Given the description of an element on the screen output the (x, y) to click on. 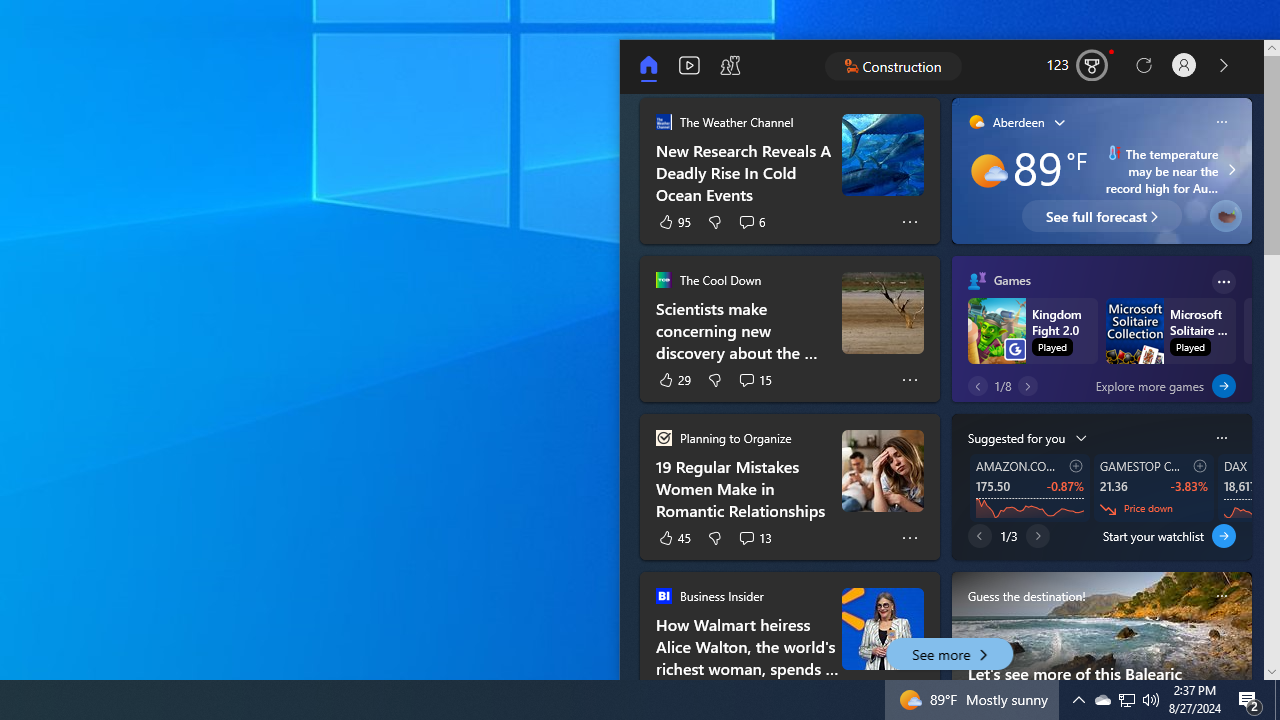
Watch video feed (689, 65)
Dislike (714, 538)
See more (949, 653)
Explore more games Explore more games (1153, 385)
Plant a real tree (1225, 215)
Start your watchlist (1224, 535)
Refresh feed (1143, 65)
More Options (910, 538)
